Given the description of an element on the screen output the (x, y) to click on. 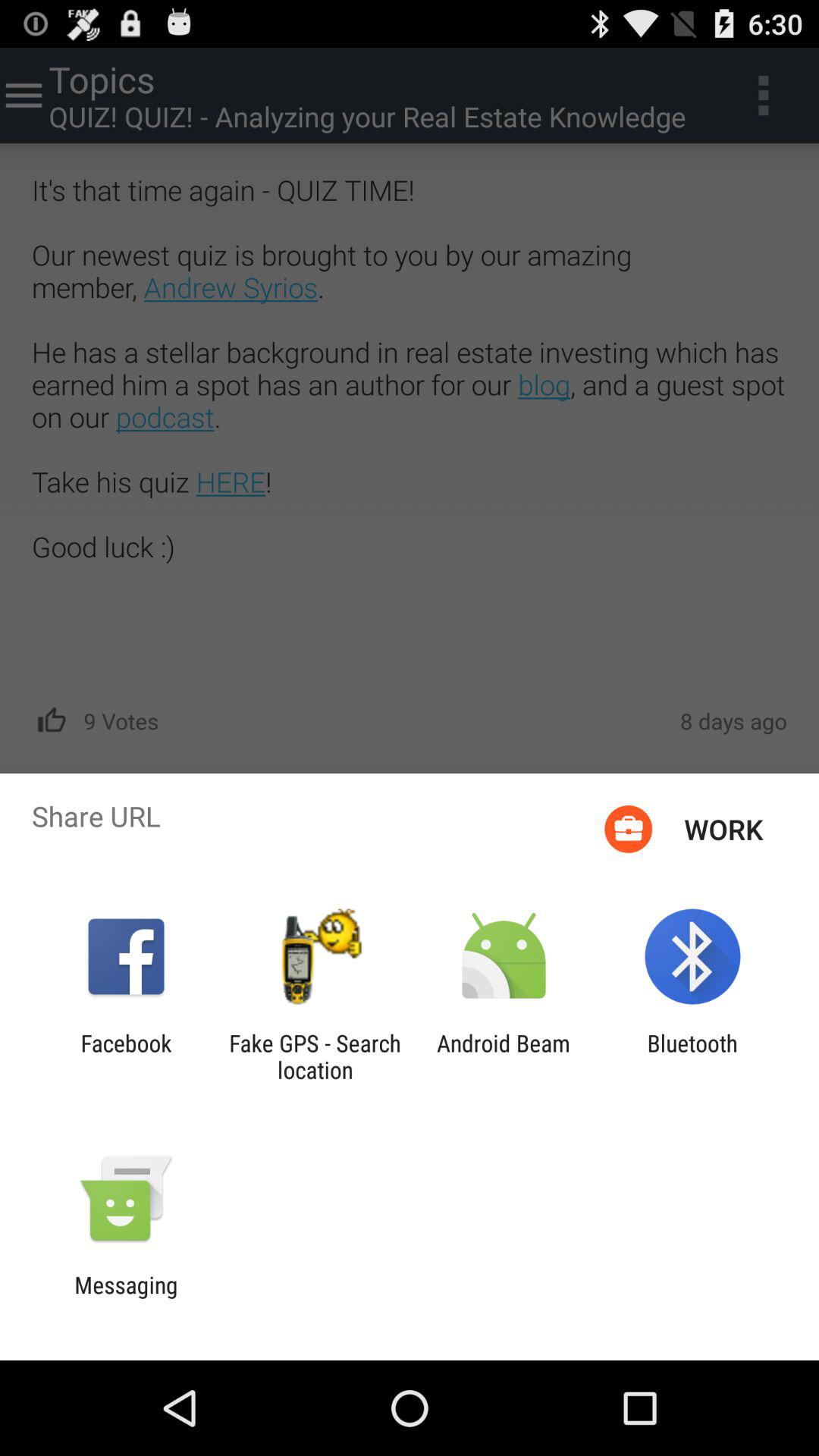
jump to messaging item (126, 1298)
